Given the description of an element on the screen output the (x, y) to click on. 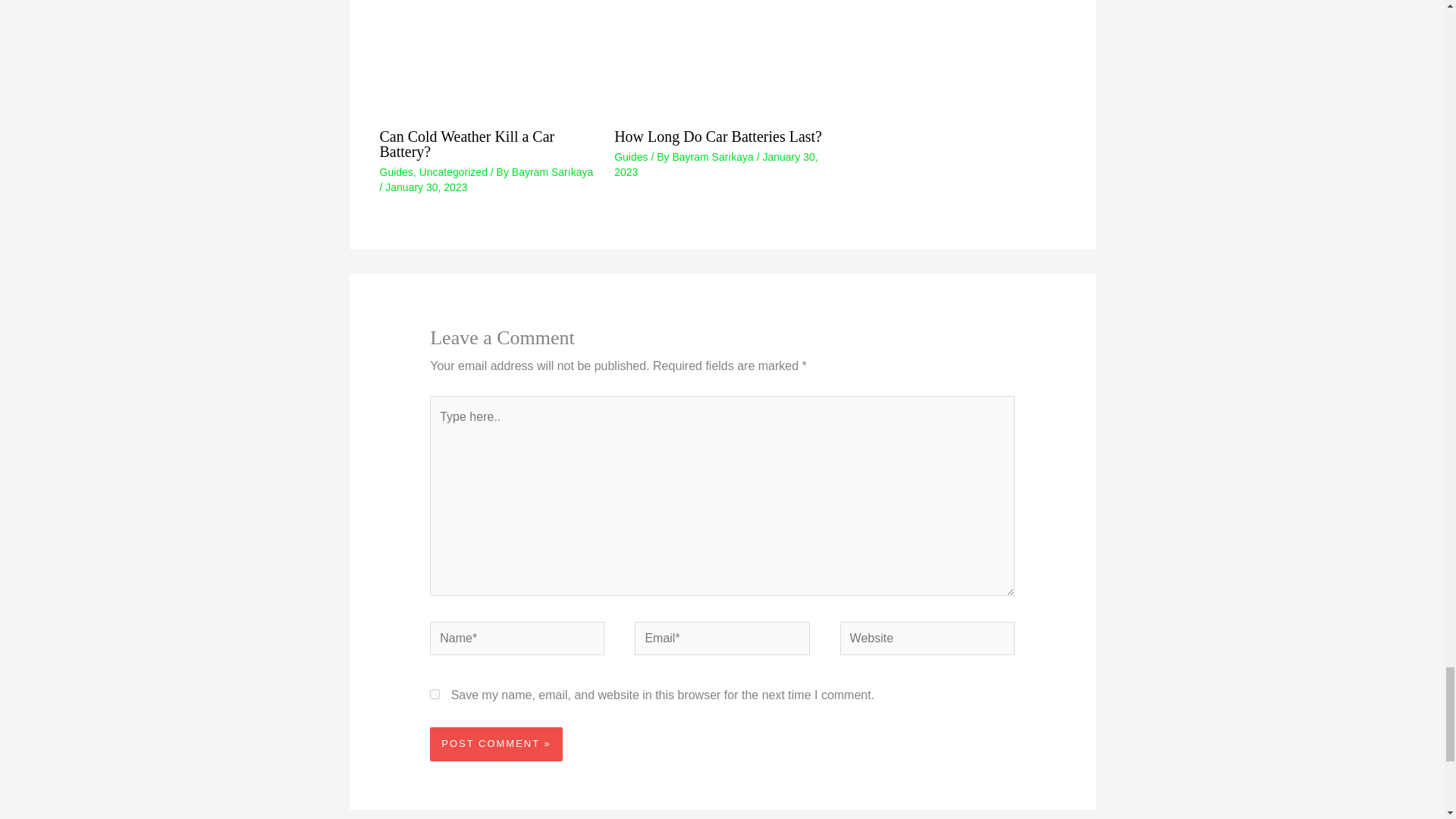
Uncategorized (453, 172)
Guides (630, 156)
Guides (395, 172)
How Long Do Car Batteries Last? (718, 135)
Can Cold Weather Kill a Car Battery? (466, 143)
yes (434, 694)
